Given the description of an element on the screen output the (x, y) to click on. 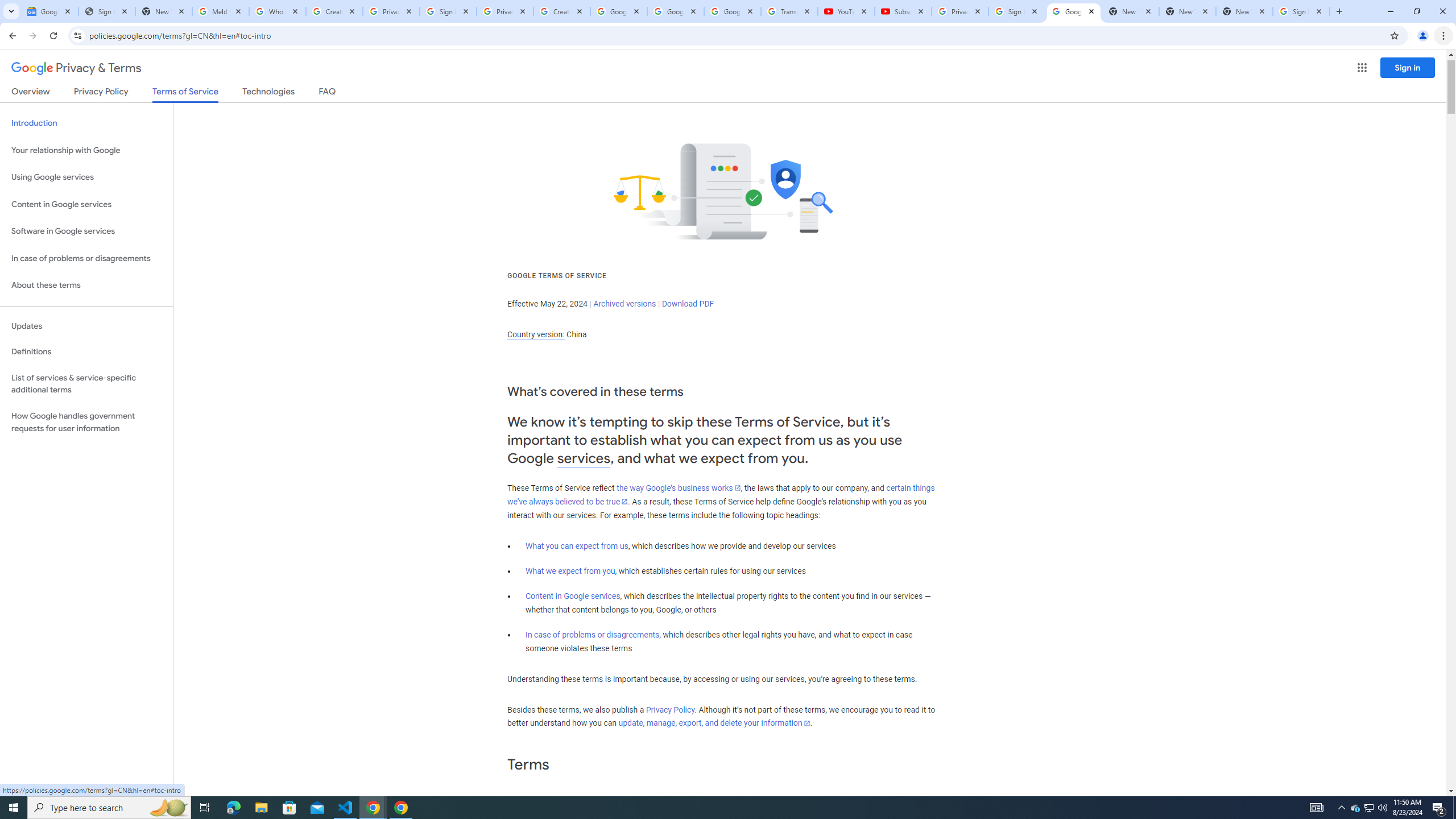
What you can expect from us (576, 545)
Create your Google Account (334, 11)
services (583, 458)
New Tab (1244, 11)
How Google handles government requests for user information (86, 422)
